Given the description of an element on the screen output the (x, y) to click on. 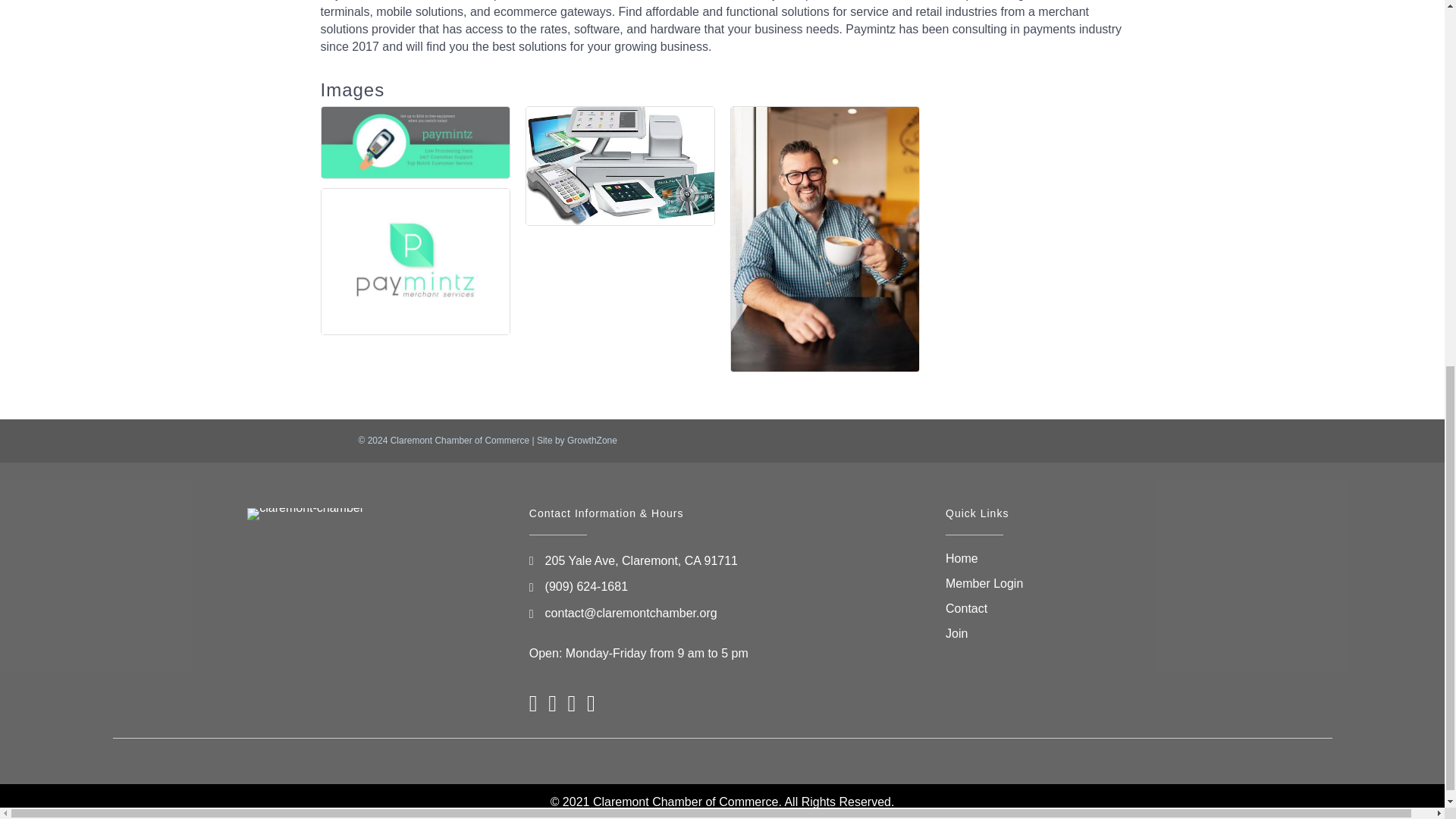
claremont-chamber (305, 513)
Sell Much? (619, 166)
A Fresh Look at Credit Card Processing (415, 261)
